Given the description of an element on the screen output the (x, y) to click on. 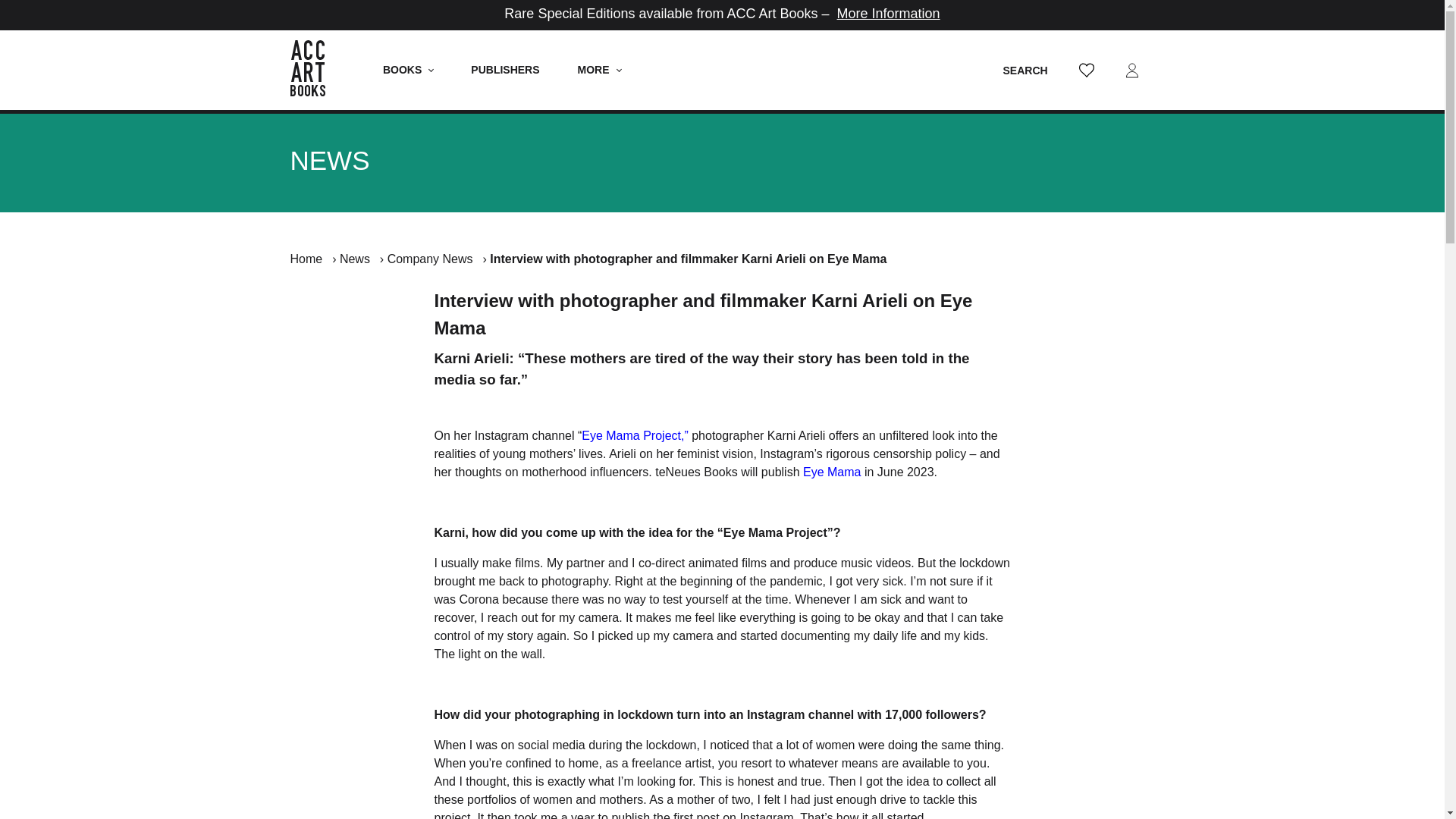
PUBLISHERS (504, 69)
MORE (599, 69)
ACC Art Books UK (315, 69)
BOOKS (407, 69)
More Information (888, 13)
